Given the description of an element on the screen output the (x, y) to click on. 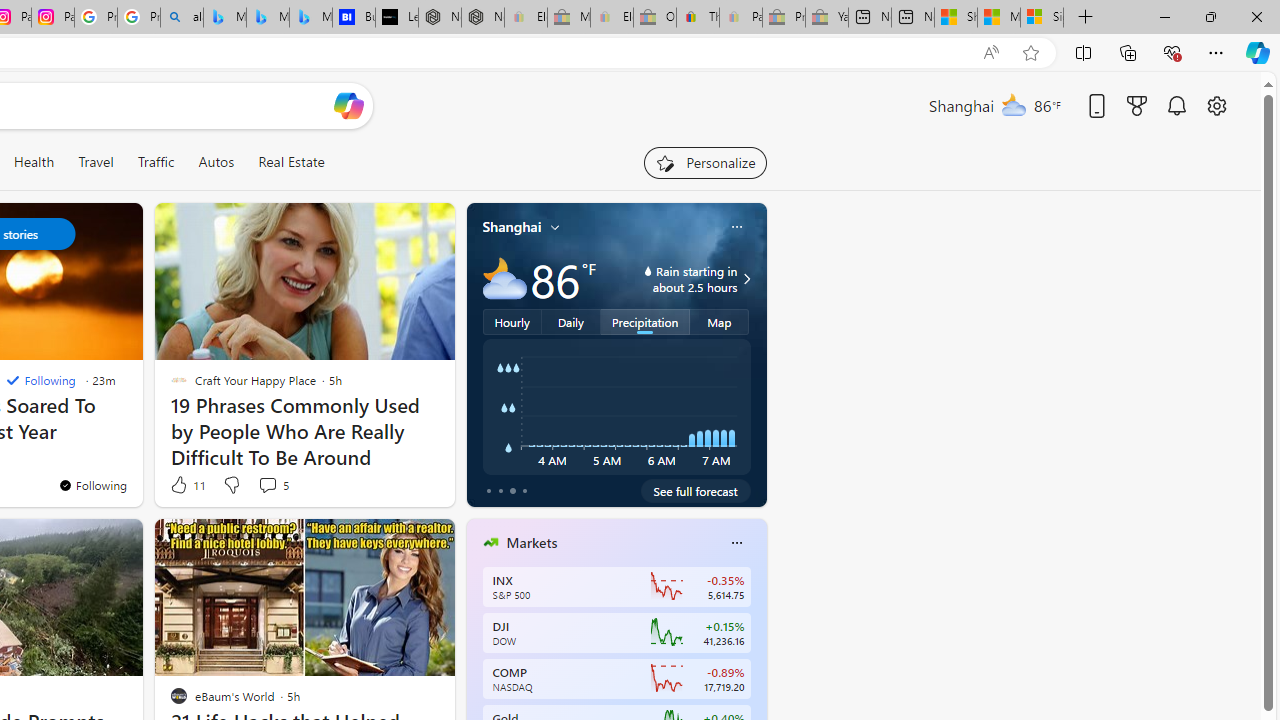
tab-3 (524, 490)
Personalize your feed" (704, 162)
You're following The Weather Channel (92, 485)
